Given the description of an element on the screen output the (x, y) to click on. 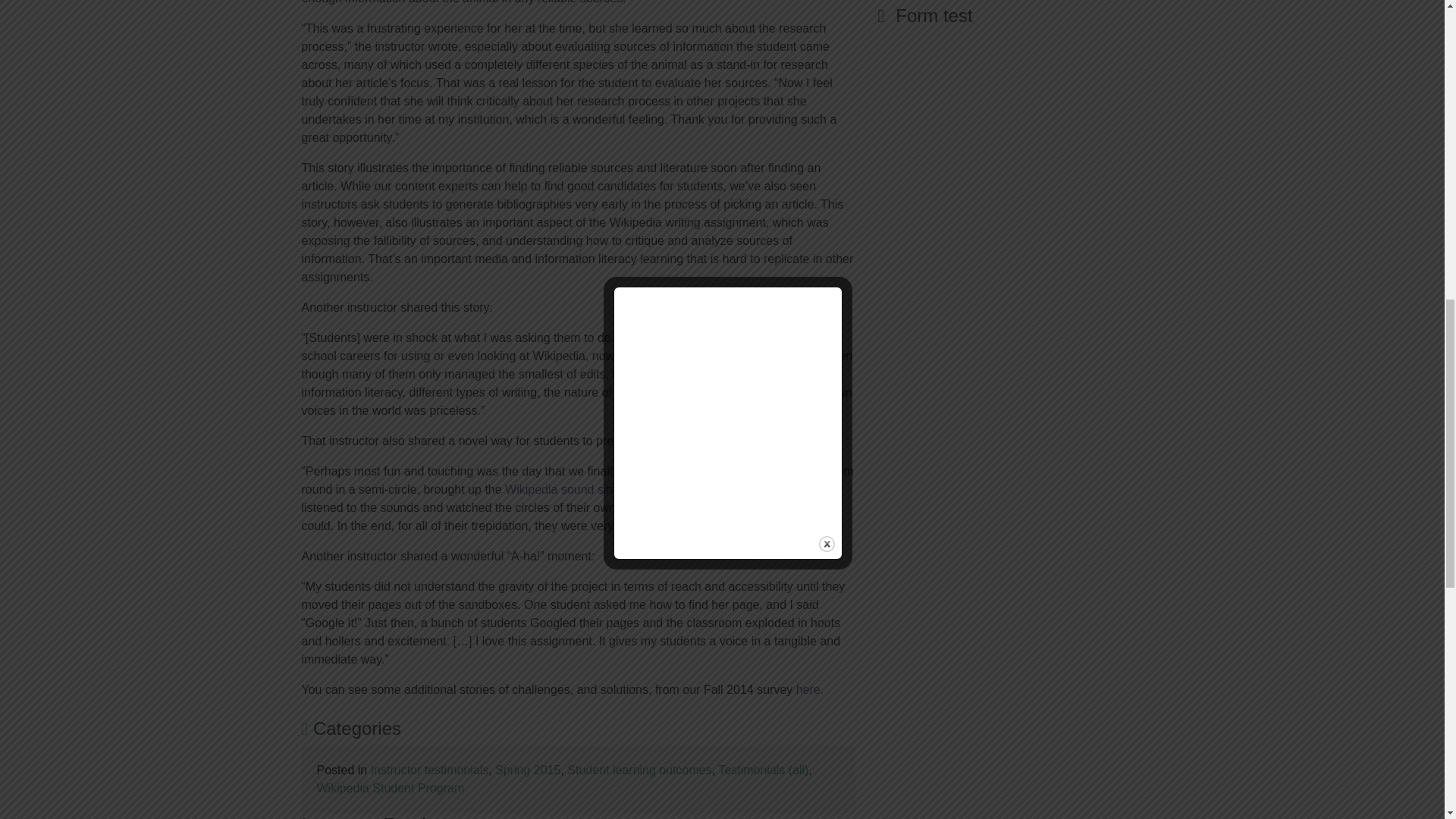
Student learning outcomes (639, 769)
Instructor testimonials (430, 769)
Wikipedia sound site (560, 489)
Wikipedia Student Program (390, 788)
here (808, 689)
Spring 2015 (527, 769)
